Given the description of an element on the screen output the (x, y) to click on. 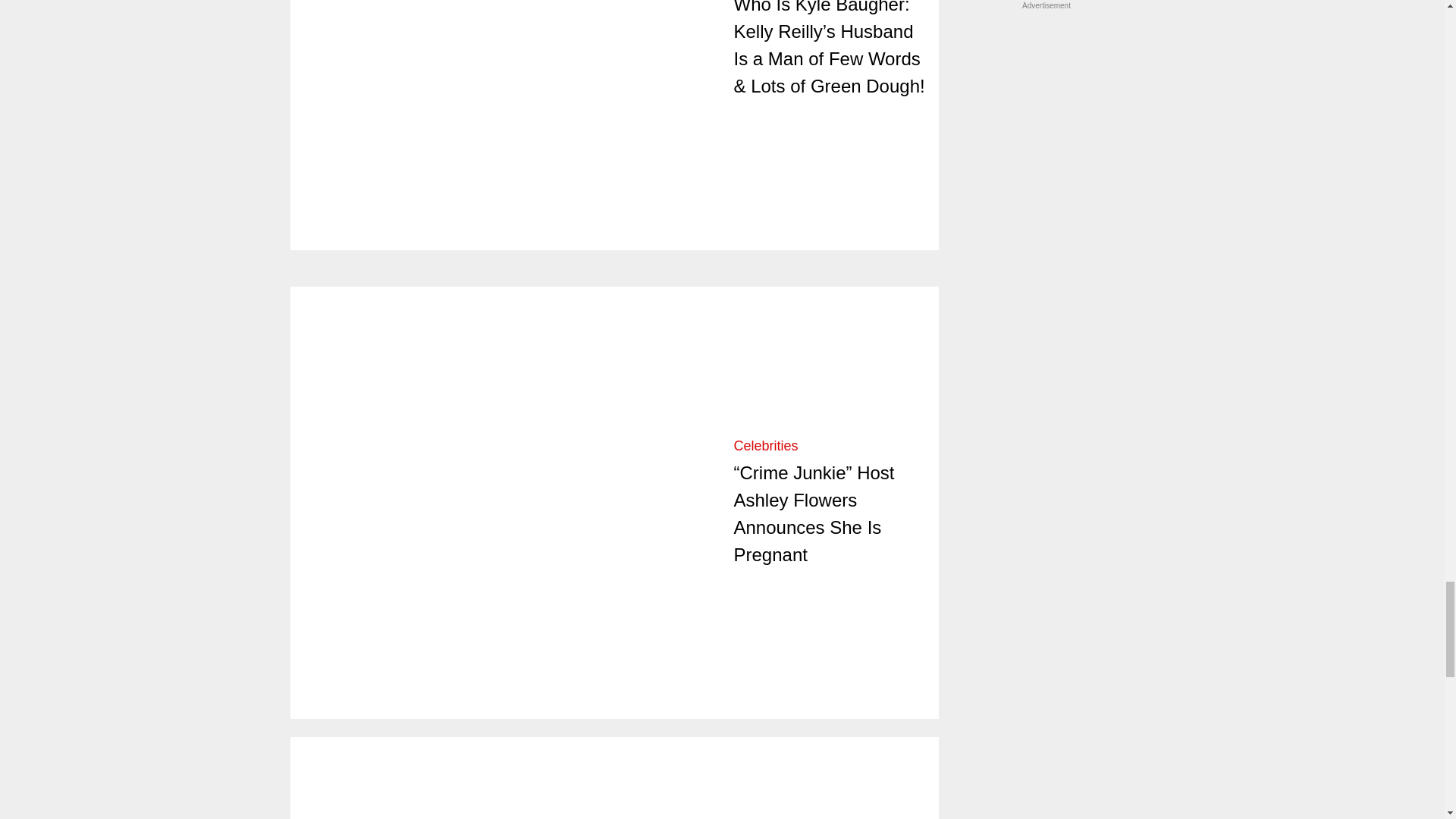
Category Name (765, 445)
